Given the description of an element on the screen output the (x, y) to click on. 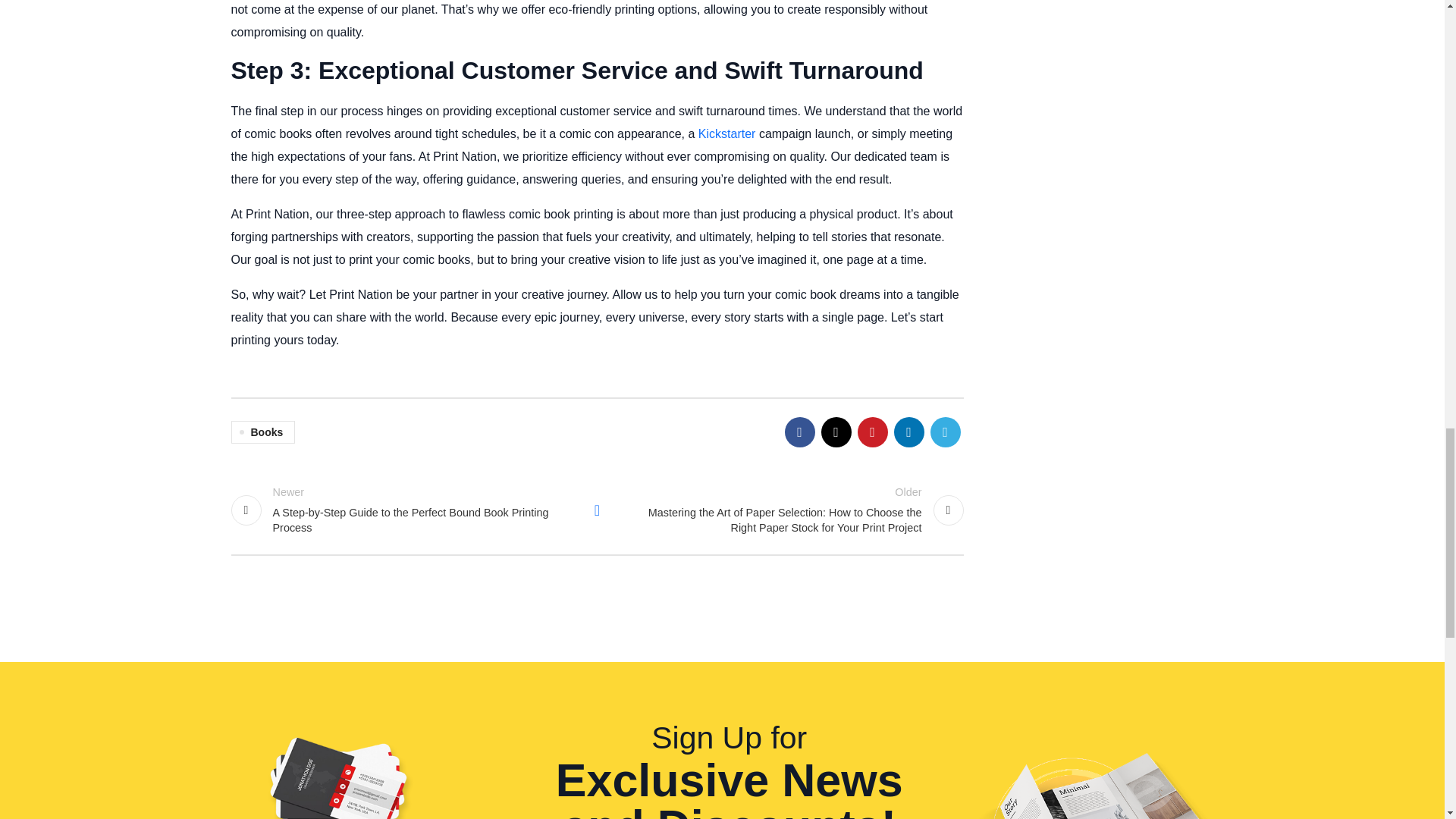
Kickstarter (726, 133)
Back to list (596, 510)
Books (262, 431)
